Given the description of an element on the screen output the (x, y) to click on. 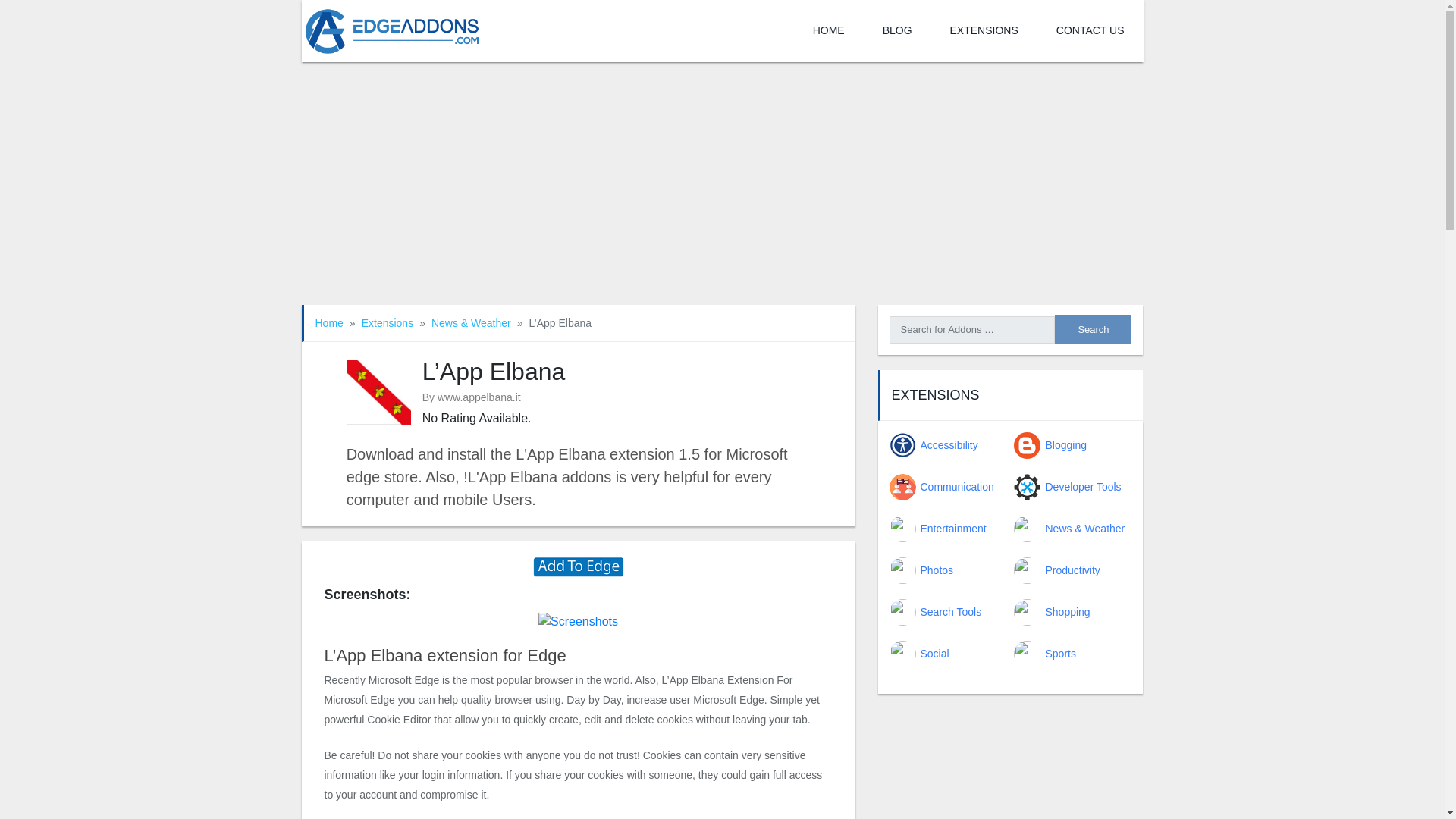
Search (1092, 329)
Search (1092, 329)
Extensions (387, 322)
HOME (828, 31)
EXTENSIONS (983, 31)
Home (329, 322)
CONTACT US (1089, 31)
BLOG (897, 31)
